Given the description of an element on the screen output the (x, y) to click on. 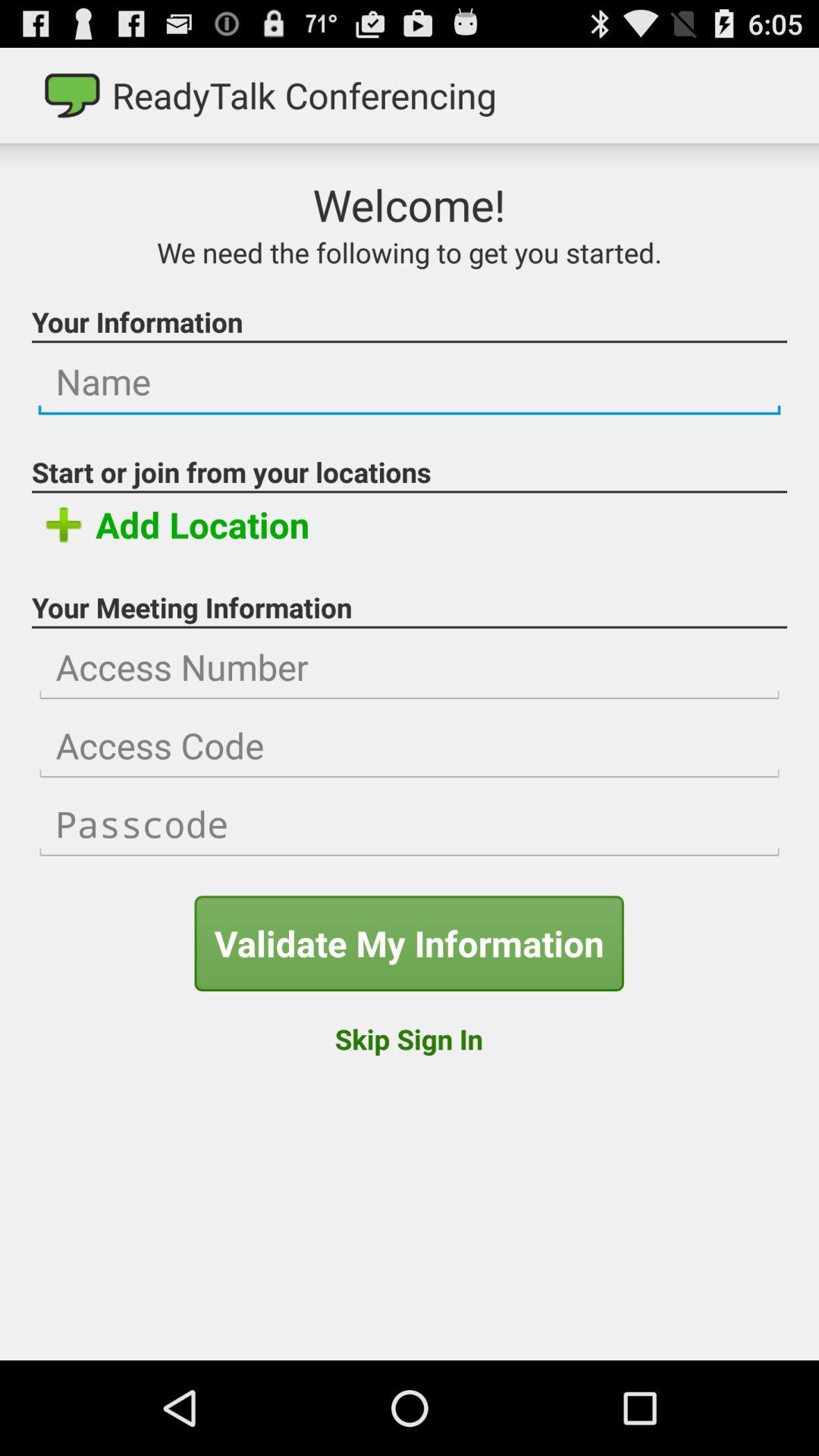
open the skip sign in item (408, 1038)
